Given the description of an element on the screen output the (x, y) to click on. 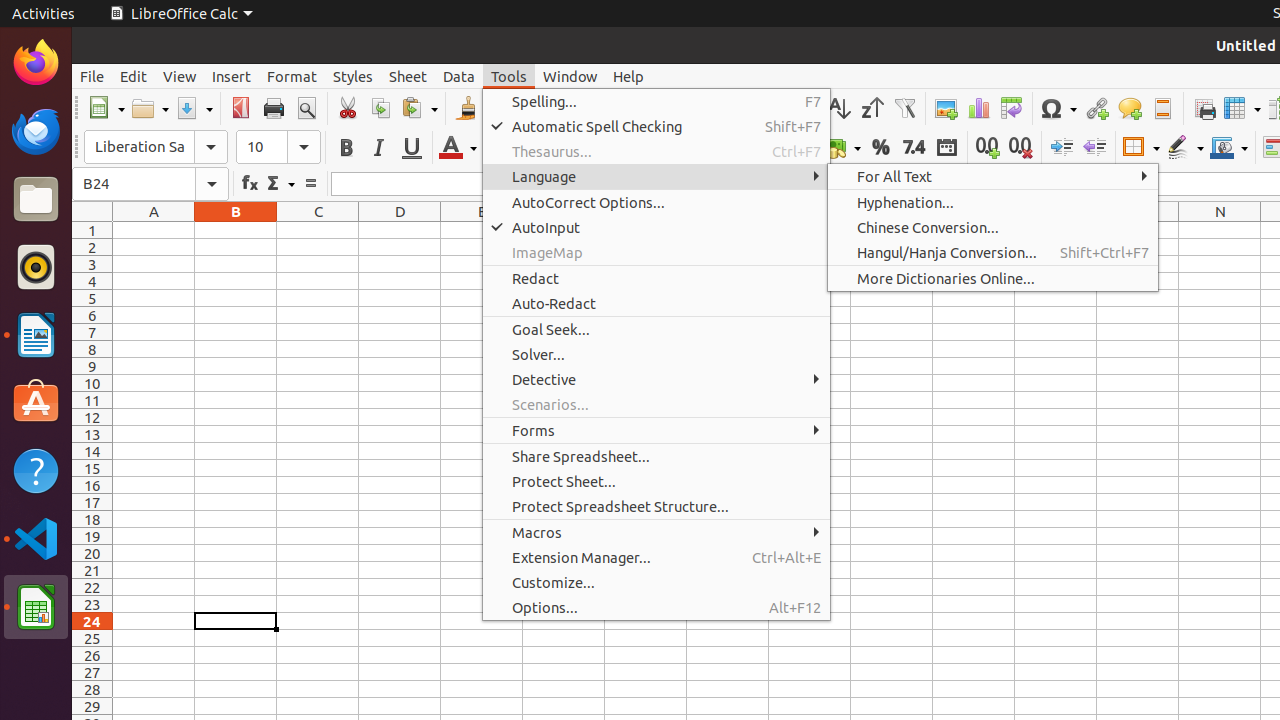
Hyperlink Element type: toggle-button (1096, 108)
Hangul/Hanja Conversion... Element type: menu-item (993, 252)
Font Color Element type: push-button (458, 147)
Sort Descending Element type: push-button (871, 108)
Save Element type: push-button (194, 108)
